Given the description of an element on the screen output the (x, y) to click on. 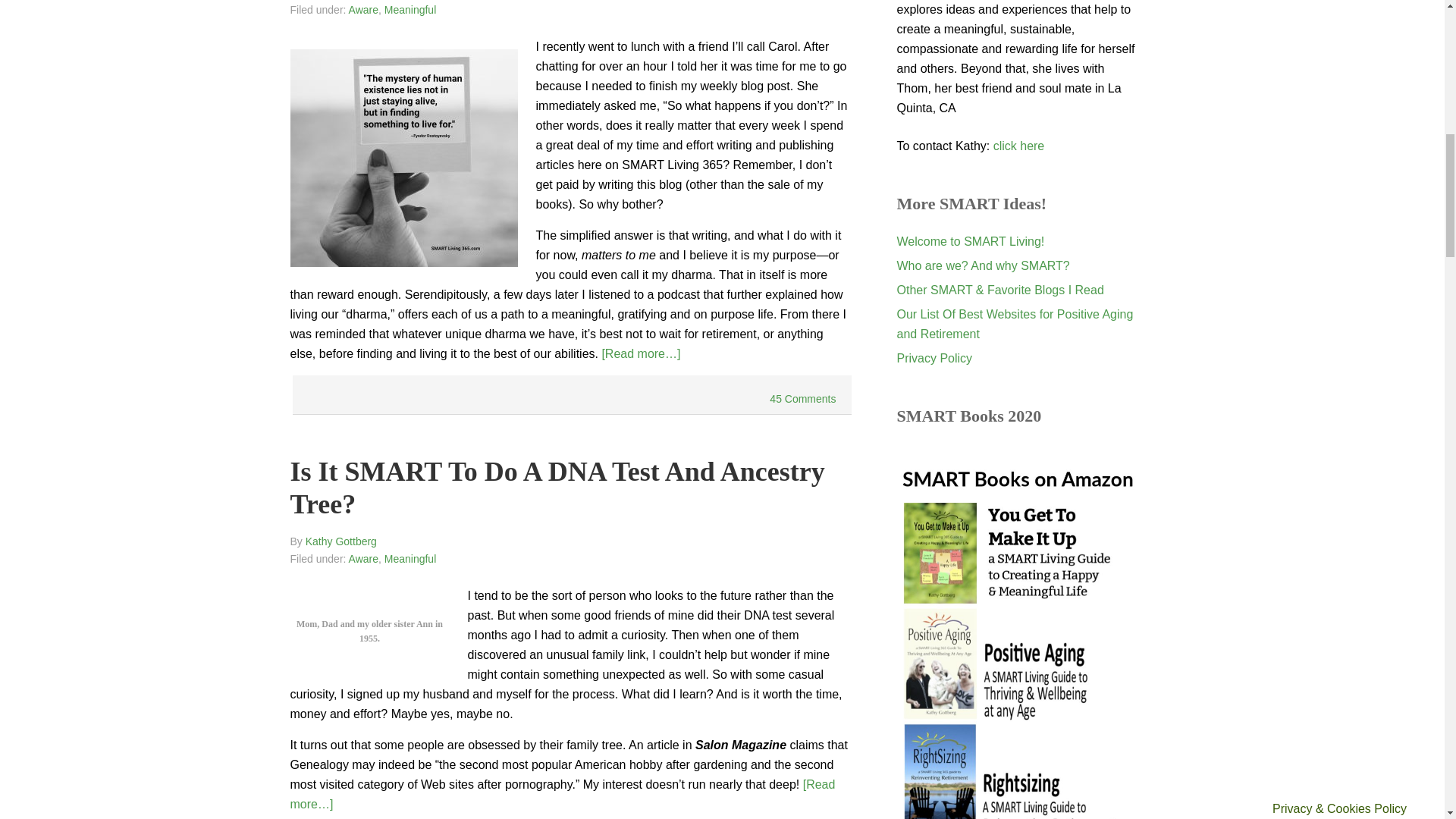
Kathy Gottberg (341, 541)
Meaningful (410, 9)
Meaningful (410, 558)
Aware (363, 9)
45 Comments (802, 398)
Is It SMART To Do A DNA Test And Ancestry Tree? (556, 487)
Aware (363, 558)
